Given the description of an element on the screen output the (x, y) to click on. 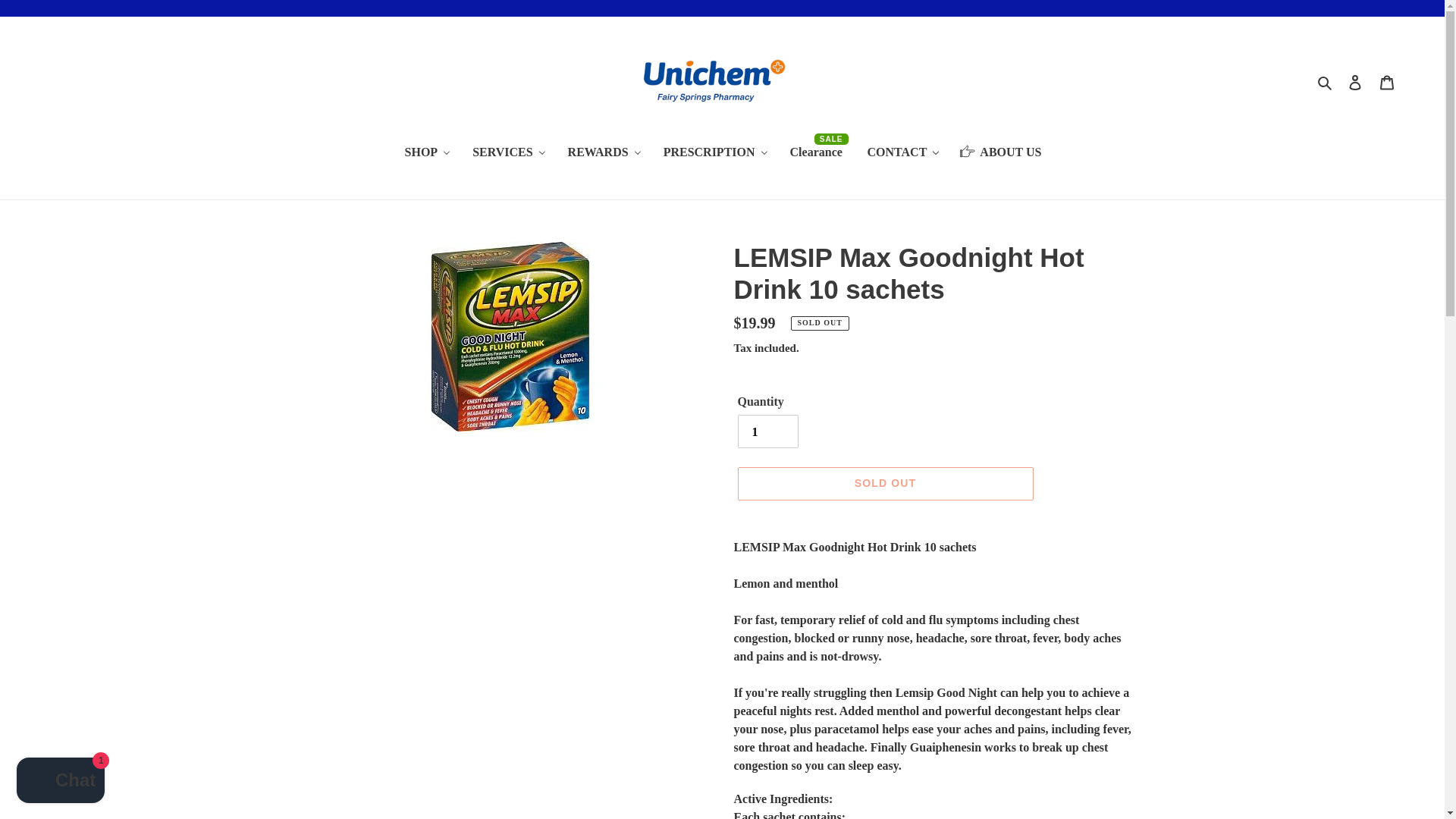
1 (766, 430)
Cart (1387, 81)
Log in (1355, 81)
Search (1326, 80)
